Given the description of an element on the screen output the (x, y) to click on. 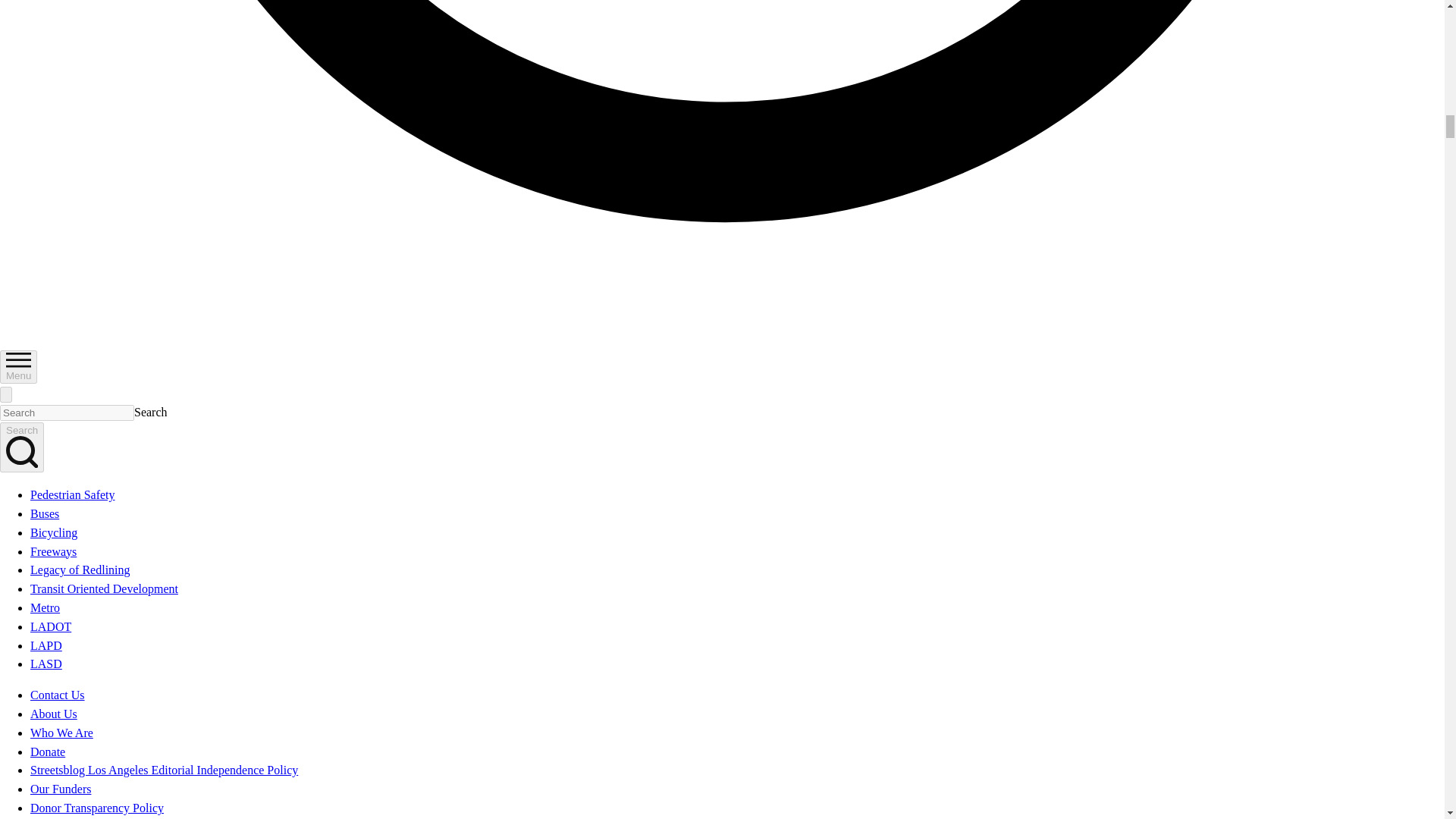
Contact Us (57, 694)
LADOT (50, 626)
Search (21, 447)
Freeways (53, 551)
About Us (53, 713)
Transit Oriented Development (103, 588)
Who We Are (61, 732)
Metro (44, 607)
Legacy of Redlining (80, 569)
Our Funders (60, 788)
LASD (46, 663)
Donor Transparency Policy (96, 807)
Buses (44, 513)
Donate (47, 751)
Pedestrian Safety (72, 494)
